Given the description of an element on the screen output the (x, y) to click on. 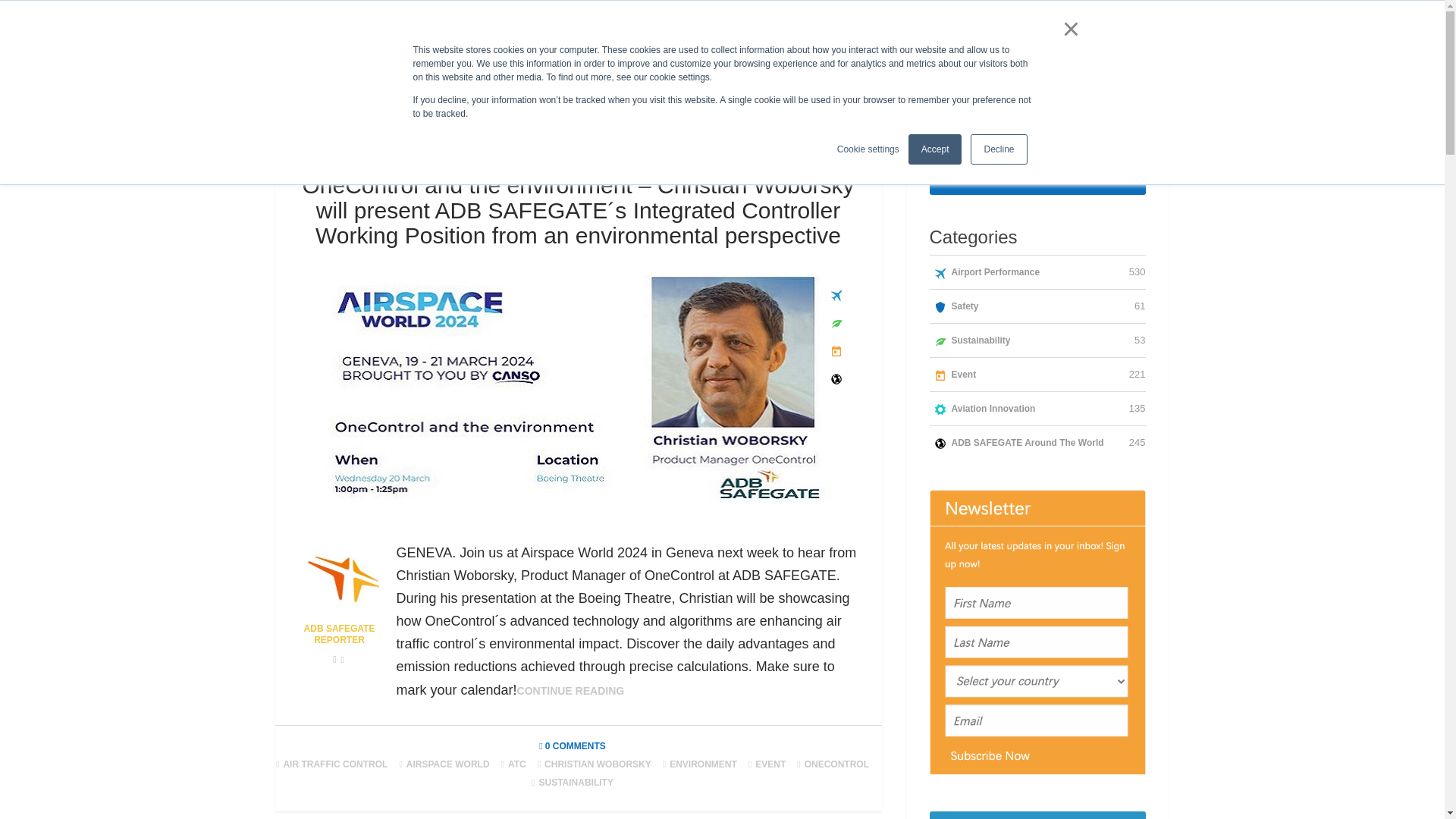
ENVIRONMENT (706, 764)
Cookie settings (868, 149)
Decline (998, 149)
AIR TRAFFIC CONTROL (338, 764)
ONECONTROL (840, 764)
CONTACTS (1135, 15)
CONTINUE READING (570, 689)
ADB SAFEGATE (659, 15)
ATC (520, 764)
PRODUCTS (860, 15)
